Given the description of an element on the screen output the (x, y) to click on. 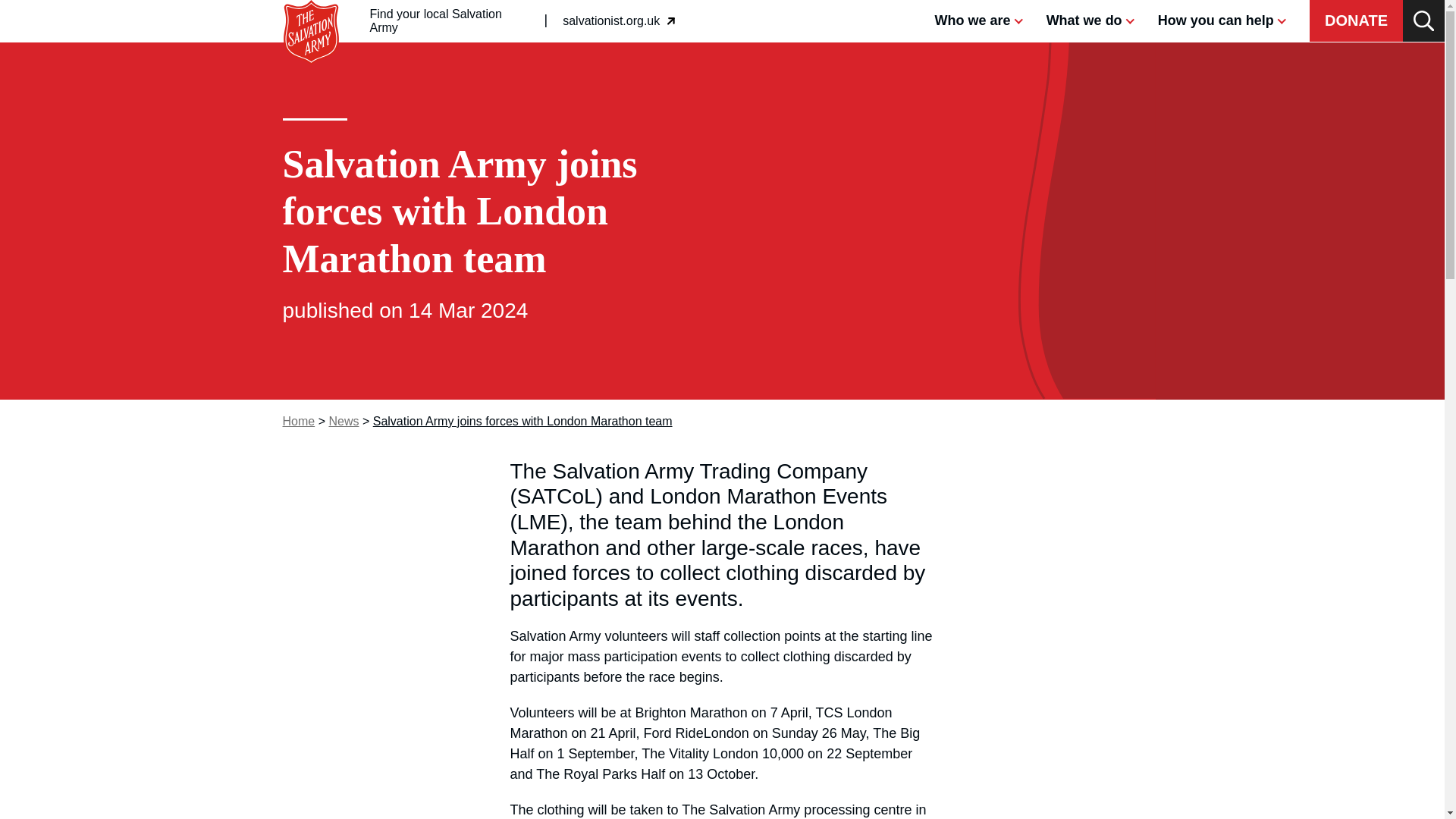
Home (618, 20)
Find your local Salvation Army (310, 7)
